Given the description of an element on the screen output the (x, y) to click on. 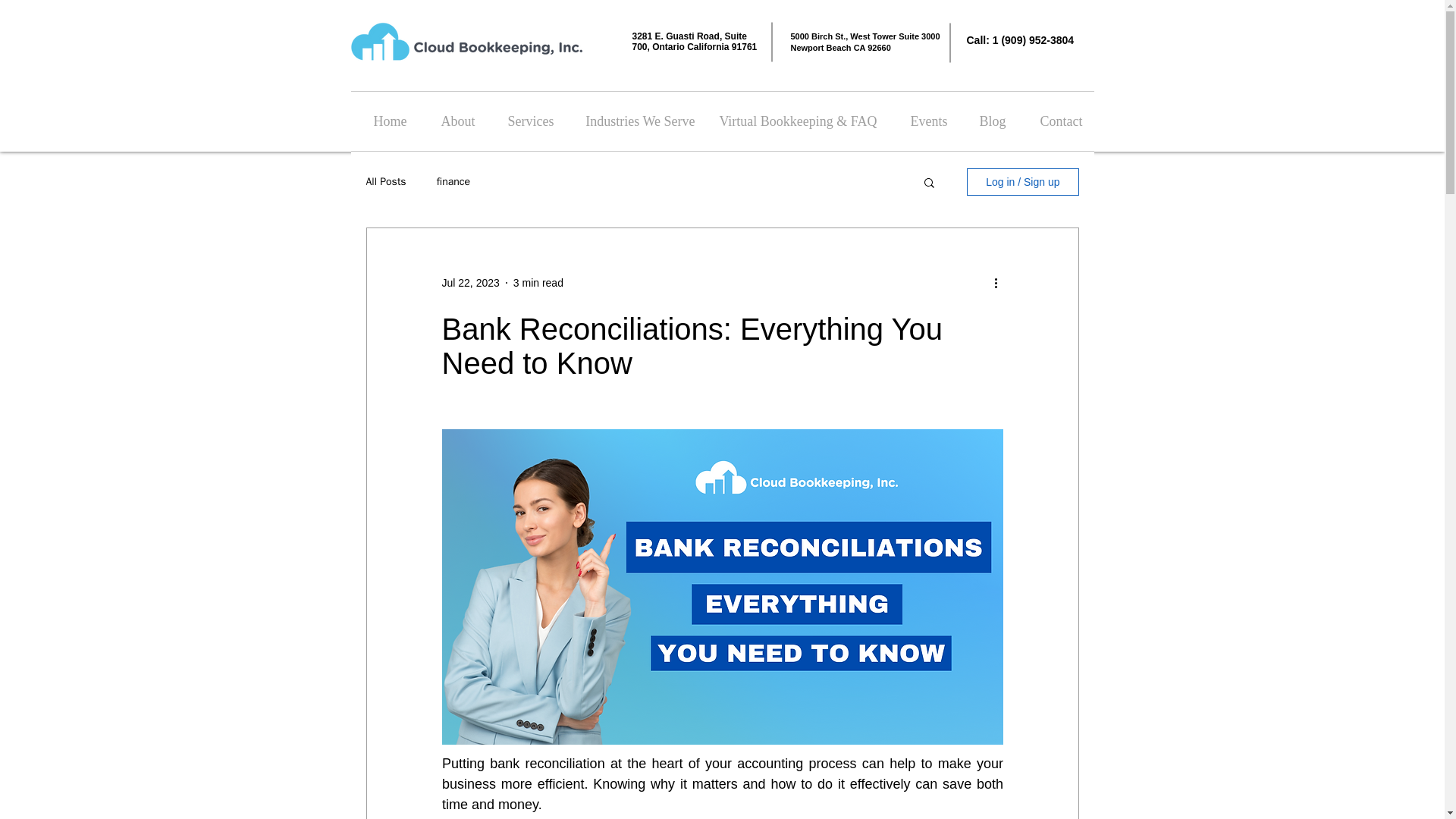
About (452, 120)
Home (383, 120)
All Posts (385, 182)
Jul 22, 2023 (470, 282)
Industries We Serve (636, 120)
finance (453, 182)
Contact (1055, 120)
3 min read (538, 282)
Services (526, 120)
Blog (987, 120)
